Given the description of an element on the screen output the (x, y) to click on. 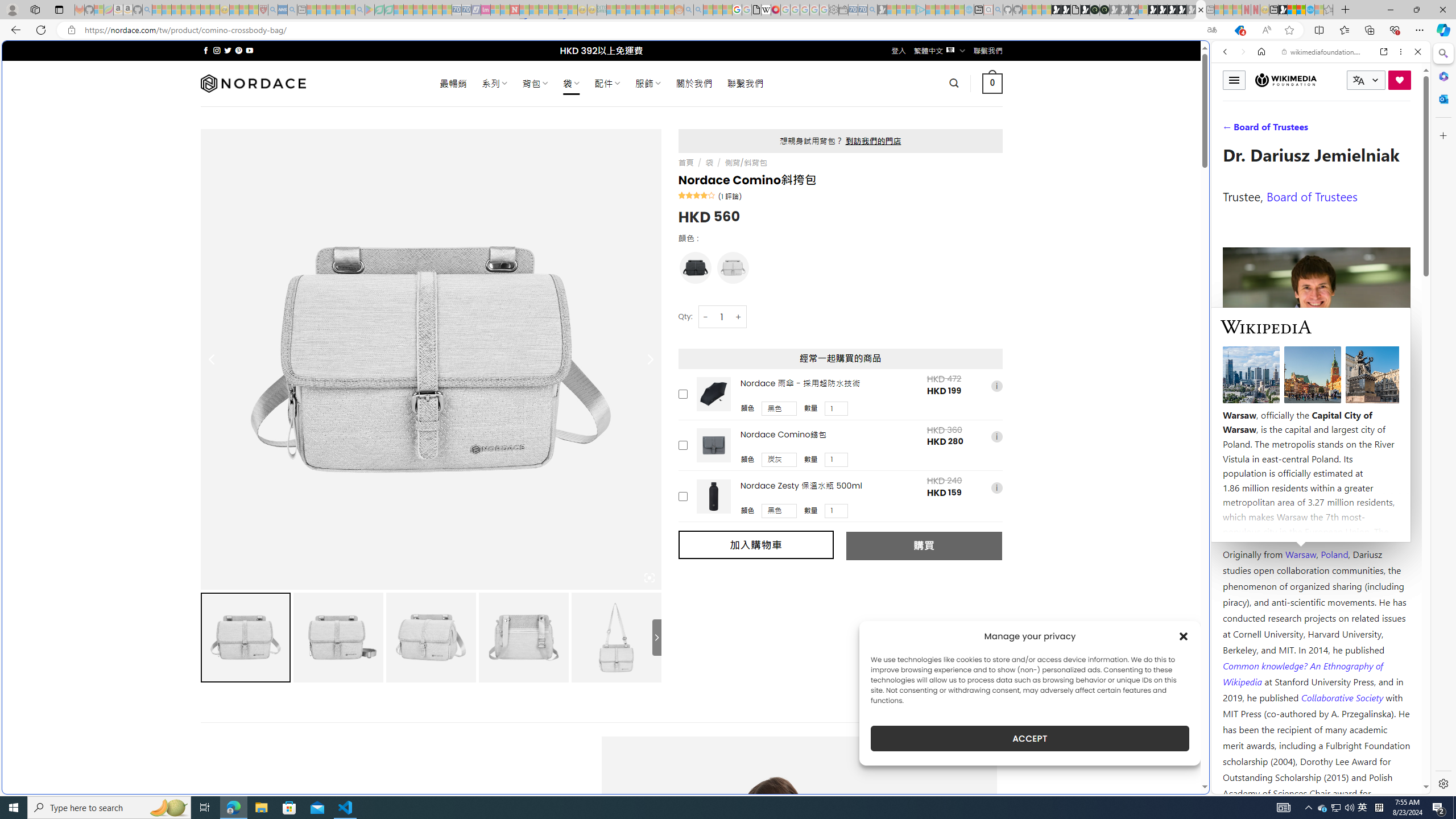
Close split screen (1208, 57)
